Given the description of an element on the screen output the (x, y) to click on. 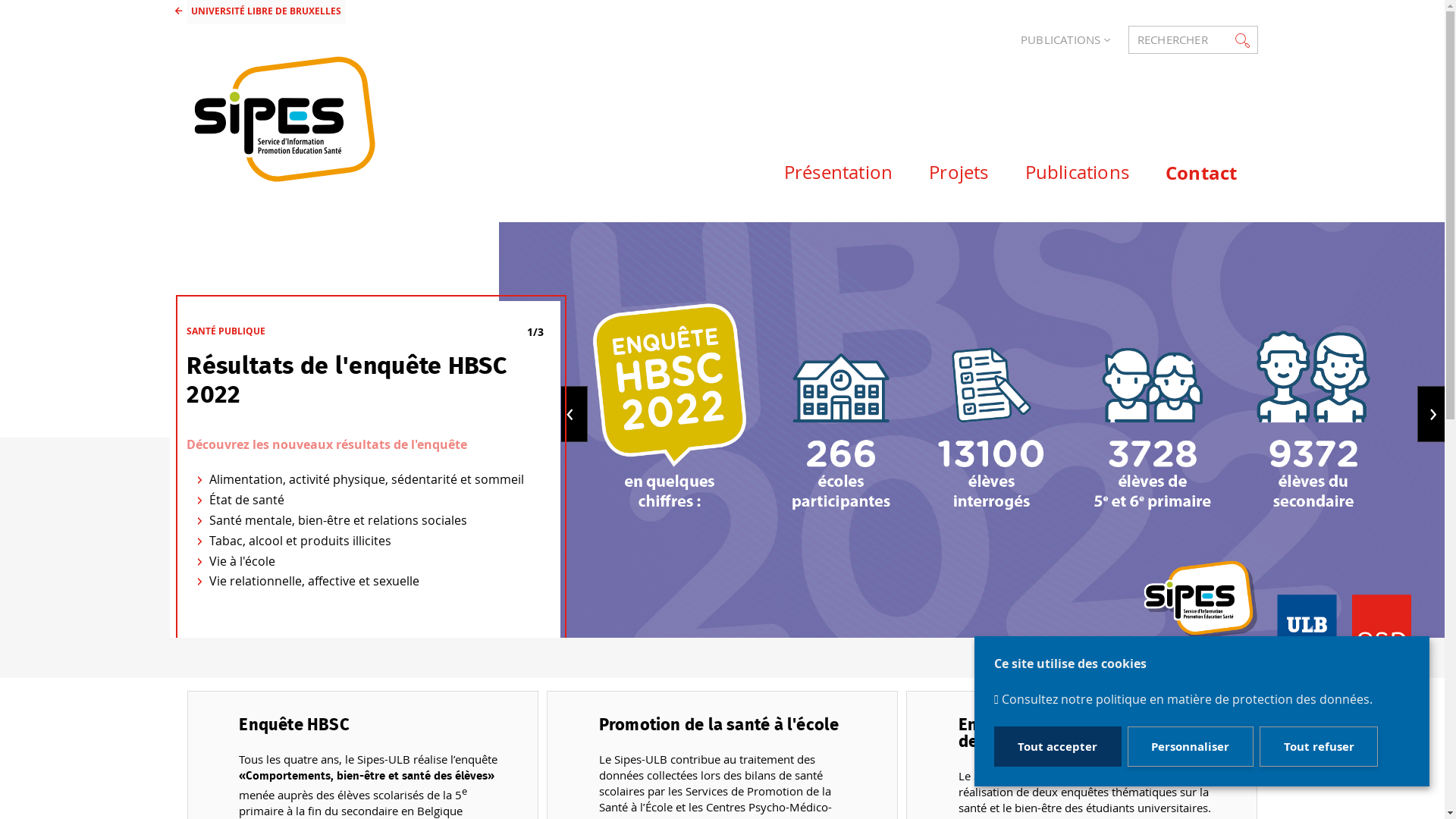
Projets Element type: text (940, 165)
RECHERCHER Element type: text (1192, 39)
Publications Element type: text (1058, 165)
Tout accepter Element type: text (1057, 746)
Tout refuser Element type: text (1318, 746)
Personnaliser Element type: text (1190, 746)
PUBLICATIONS Element type: text (1055, 39)
Contact Element type: text (1182, 166)
